Given the description of an element on the screen output the (x, y) to click on. 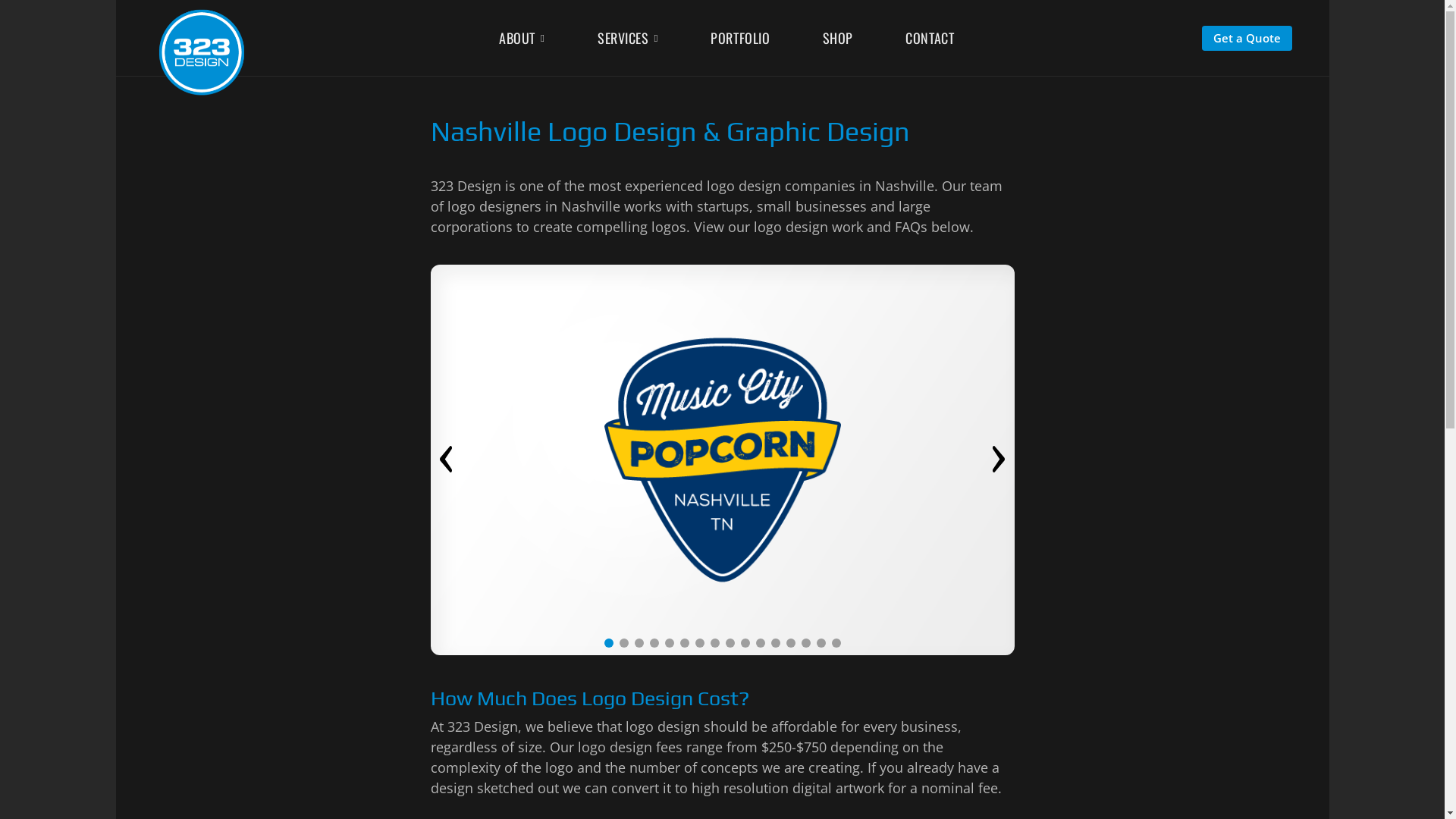
5 Element type: text (668, 642)
6 Element type: text (683, 642)
13 Element type: text (789, 642)
CONTACT Element type: text (929, 37)
15 Element type: text (820, 642)
12 Element type: text (774, 642)
3 Element type: text (638, 642)
4 Element type: text (653, 642)
11 Element type: text (759, 642)
9 Element type: text (729, 642)
8 Element type: text (713, 642)
logo-design-nashville-music-city-popcorn Element type: hover (722, 459)
14 Element type: text (804, 642)
1 Element type: text (607, 642)
7 Element type: text (698, 642)
PORTFOLIO Element type: text (739, 37)
2 Element type: text (622, 642)
ABOUT Element type: text (521, 38)
16 Element type: text (835, 642)
Get a Quote Element type: text (1246, 36)
SHOP Element type: text (837, 37)
SERVICES Element type: text (627, 38)
Get a Quote Element type: text (1246, 37)
10 Element type: text (744, 642)
